Given the description of an element on the screen output the (x, y) to click on. 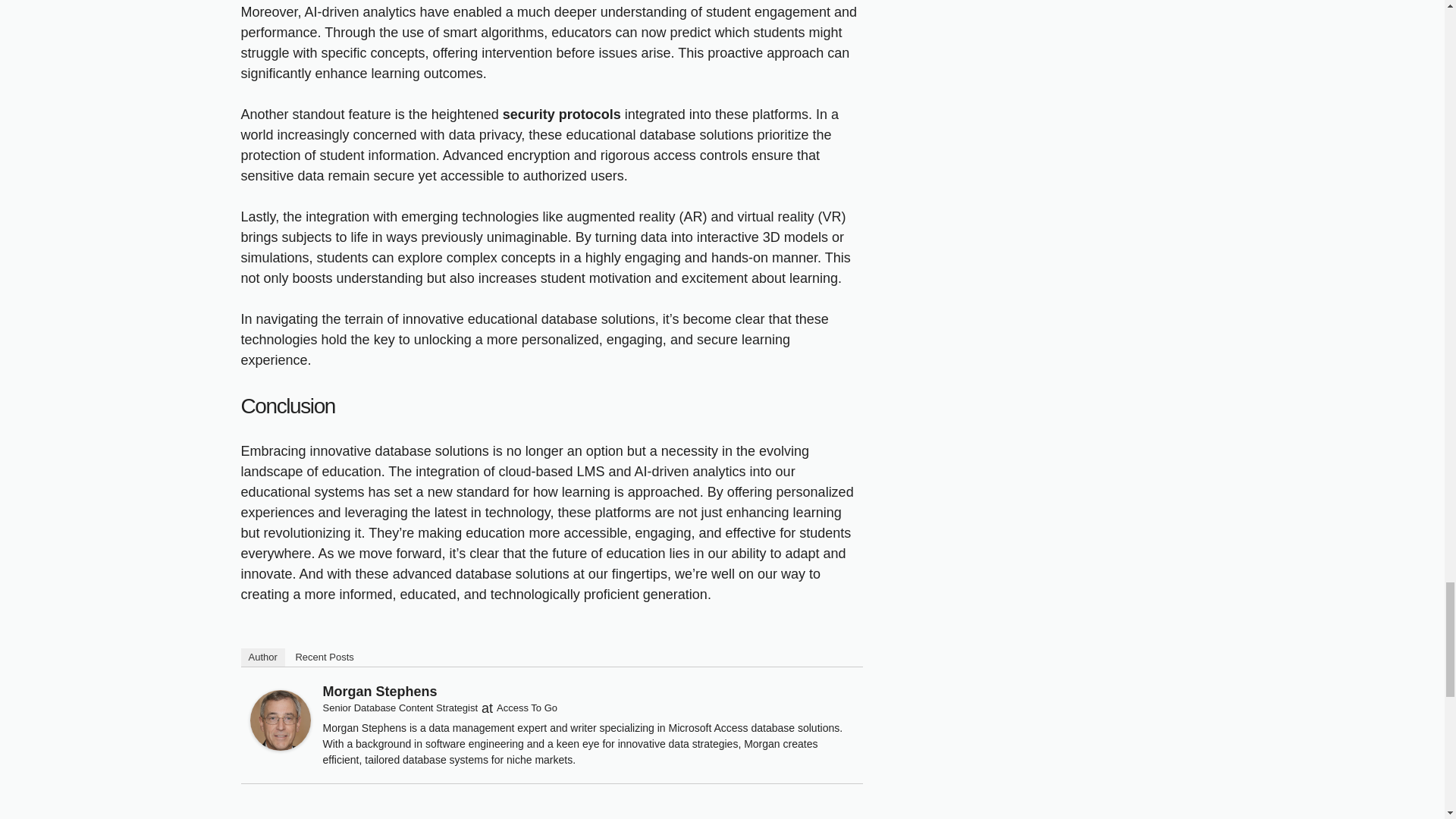
Morgan Stephens (280, 745)
Access To Go (526, 707)
Morgan Stephens (380, 691)
Author (263, 657)
Recent Posts (323, 657)
